Given the description of an element on the screen output the (x, y) to click on. 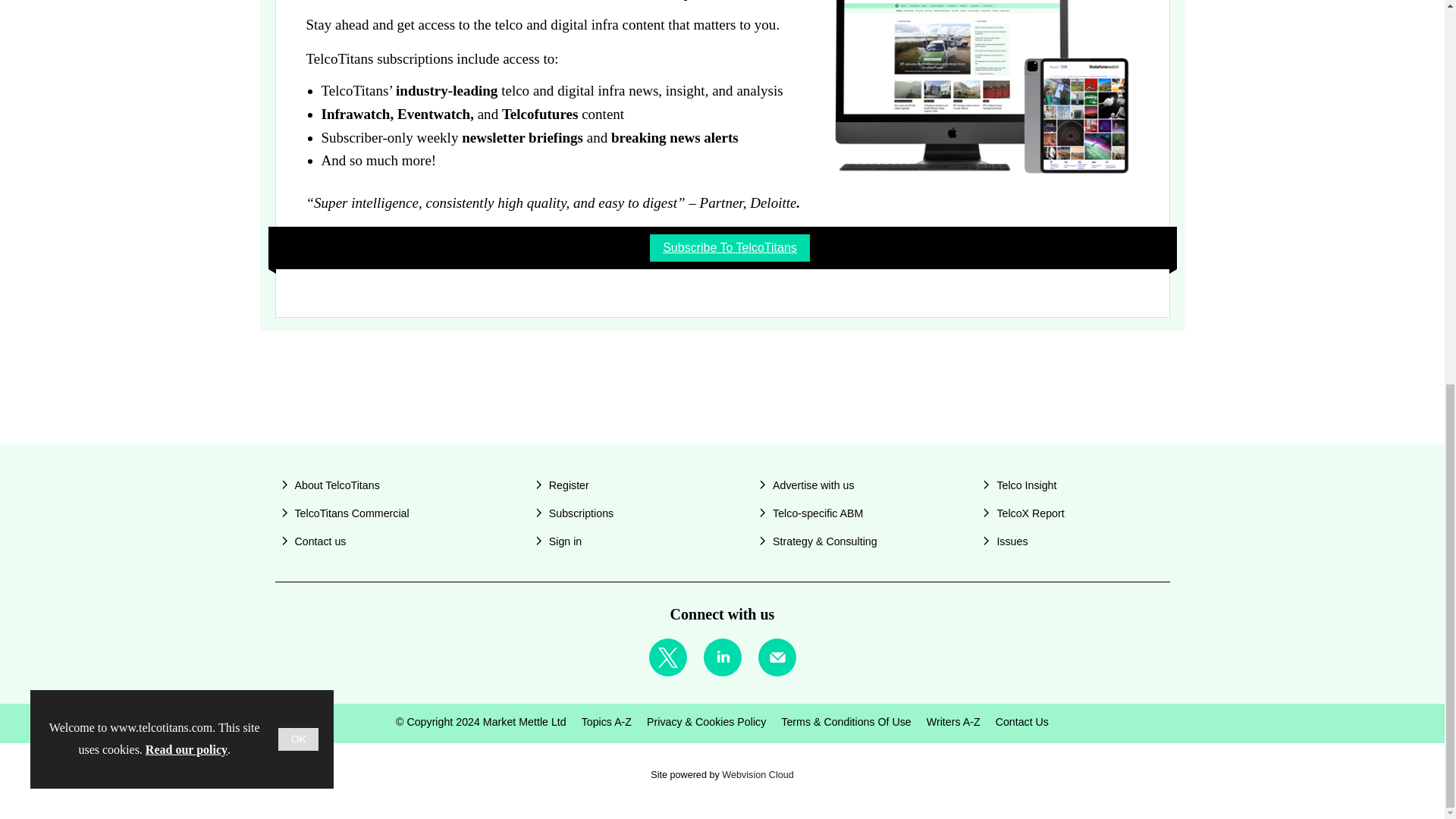
OK (298, 17)
Email us (776, 657)
Connect with us on Twitter (667, 657)
Read our policy (186, 28)
Connect with us on LinkedIn (721, 657)
